Given the description of an element on the screen output the (x, y) to click on. 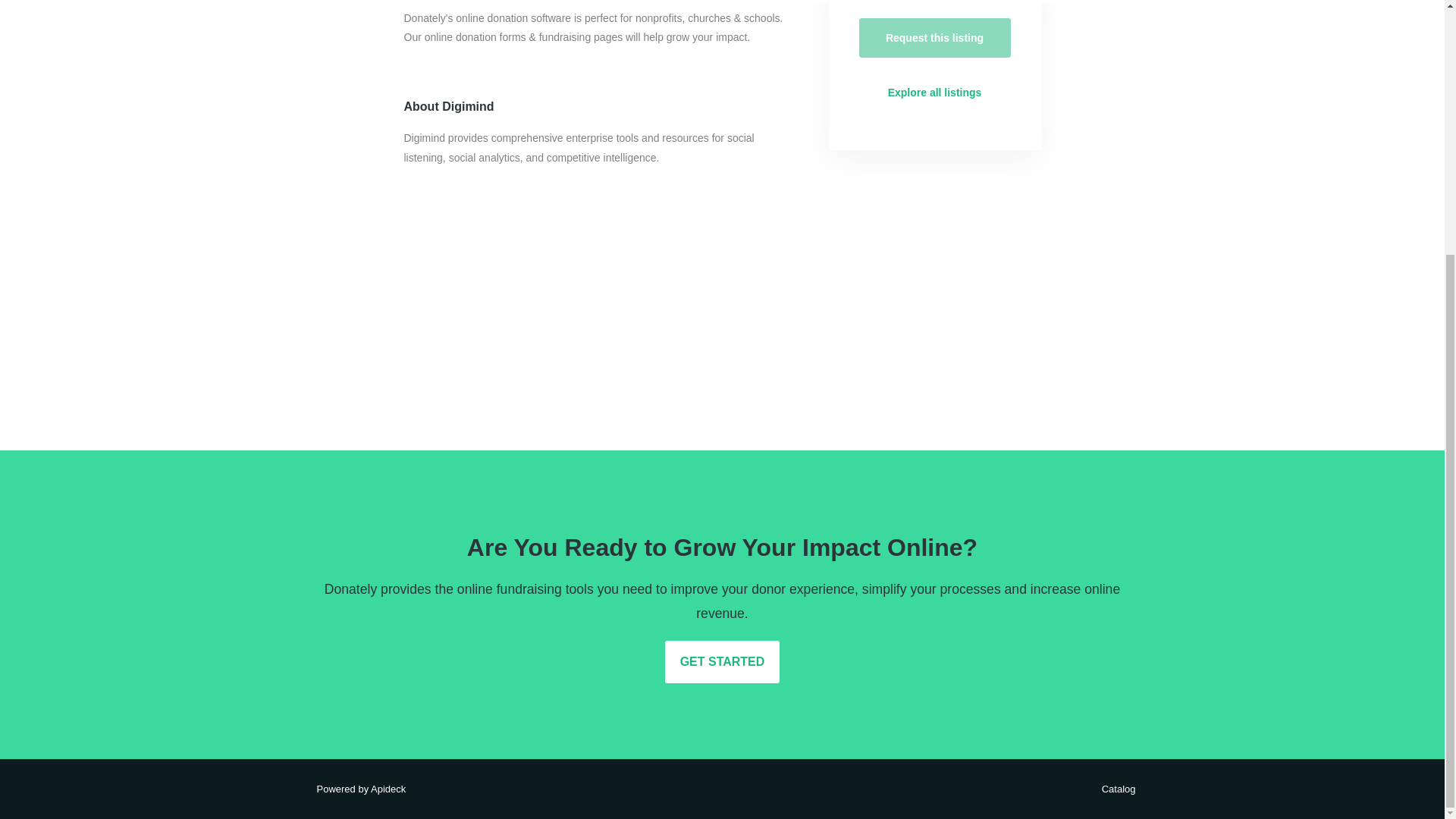
GET STARTED (722, 661)
Explore all listings (934, 92)
Request this listing (934, 37)
Catalog (1115, 789)
Powered by Apideck (356, 789)
